Given the description of an element on the screen output the (x, y) to click on. 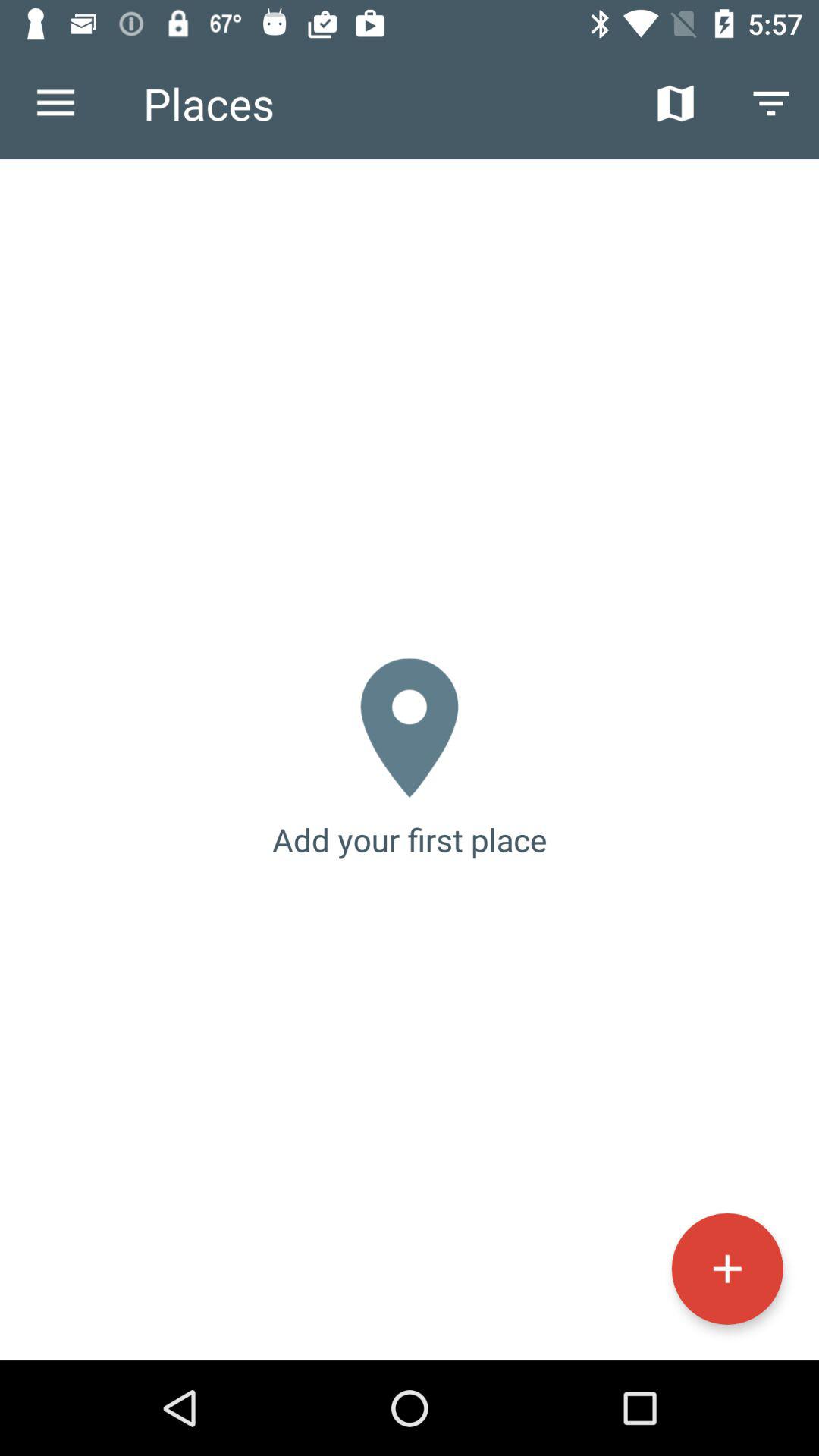
turn off icon to the left of places (55, 103)
